Given the description of an element on the screen output the (x, y) to click on. 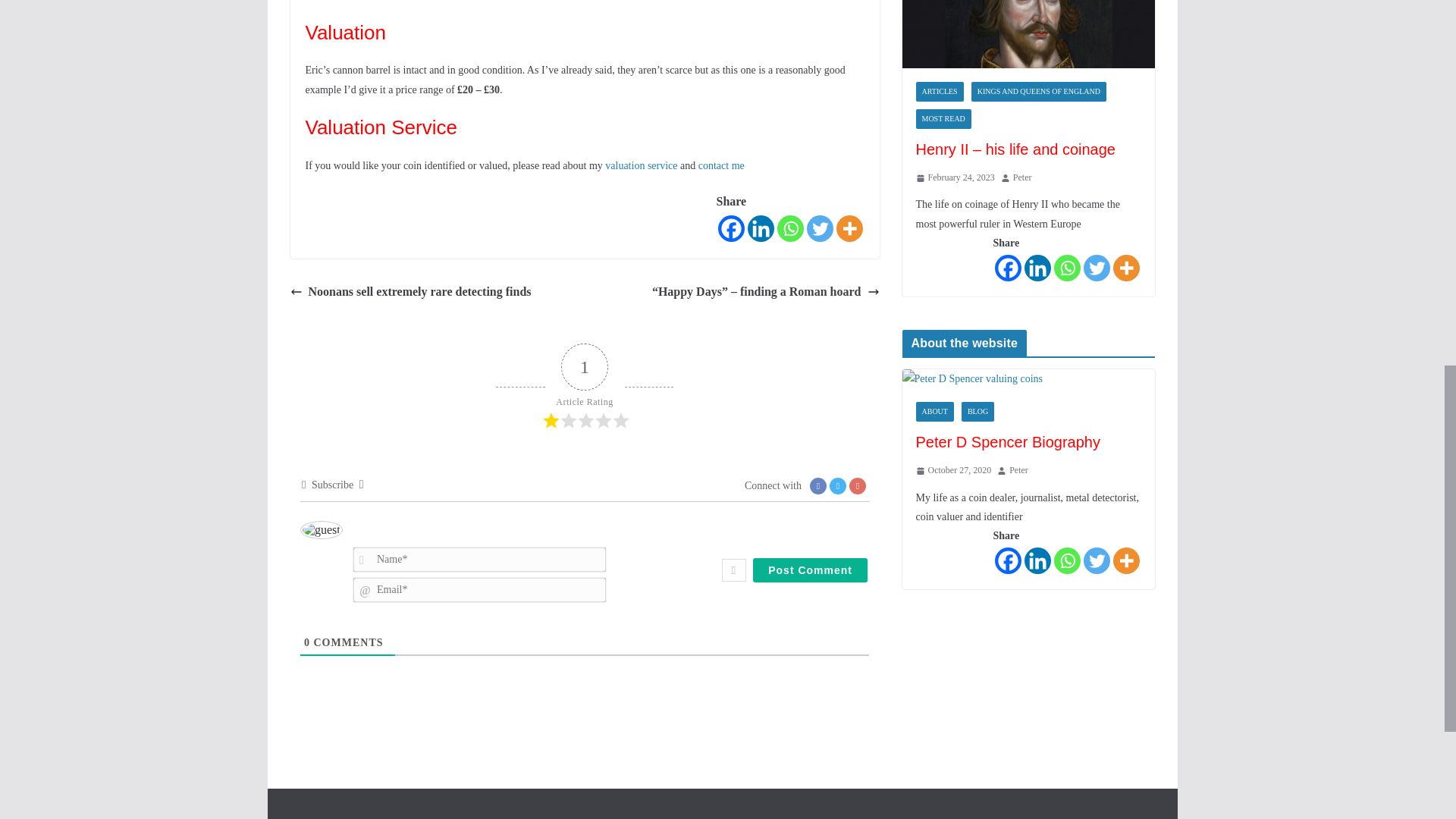
contact me (721, 165)
Linkedin (761, 228)
Facebook (730, 228)
Whatsapp (789, 228)
Twitter (819, 228)
valuation service (641, 165)
More (848, 228)
Noonans sell extremely rare detecting finds (410, 292)
Post Comment (809, 569)
